Given the description of an element on the screen output the (x, y) to click on. 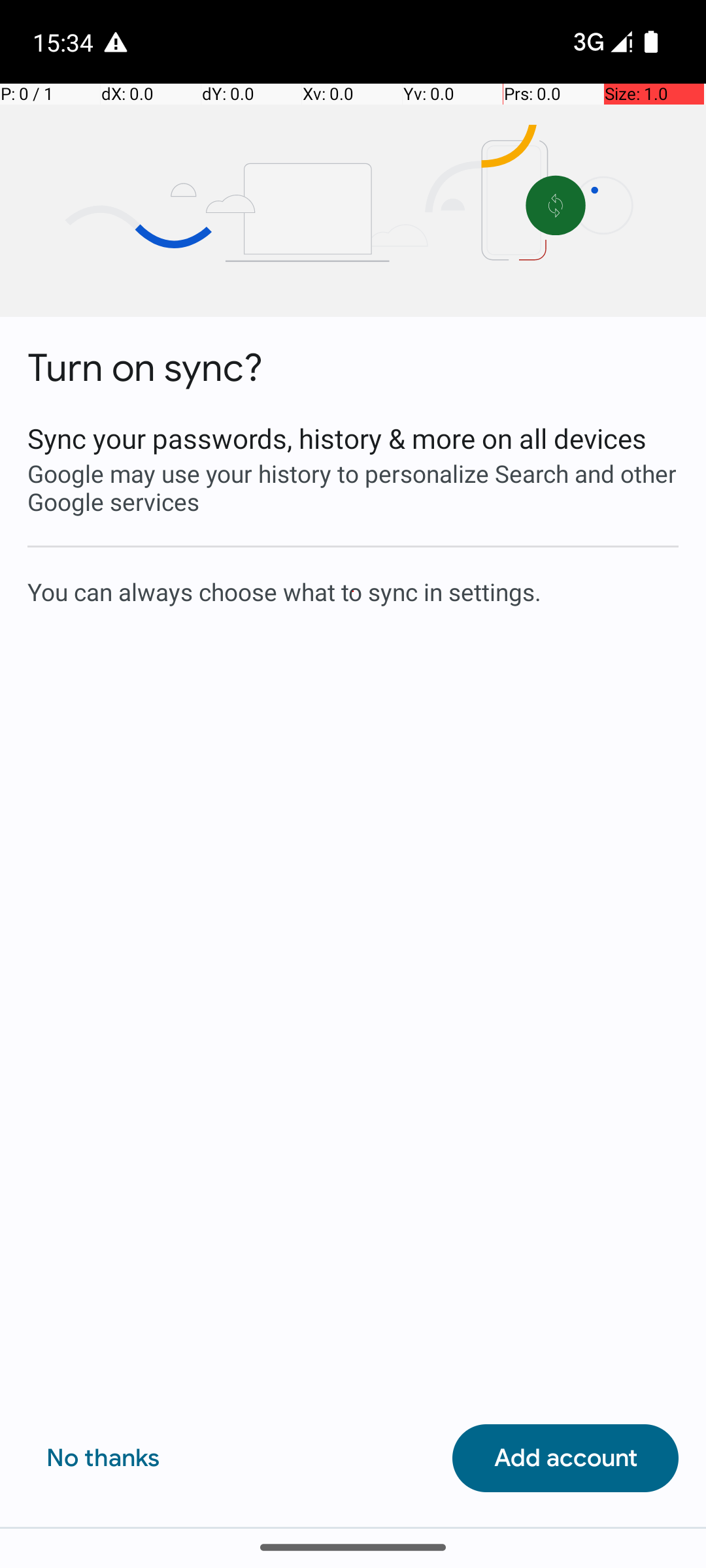
No thanks Element type: android.widget.Button (102, 1458)
Add account Element type: android.widget.Button (565, 1458)
Turn on sync? Element type: android.widget.TextView (144, 368)
Sync your passwords, history & more on all devices Element type: android.widget.TextView (352, 437)
Google may use your history to personalize Search and other Google services Element type: android.widget.TextView (352, 487)
You can always choose what to sync in settings. Element type: android.widget.TextView (352, 591)
